Given the description of an element on the screen output the (x, y) to click on. 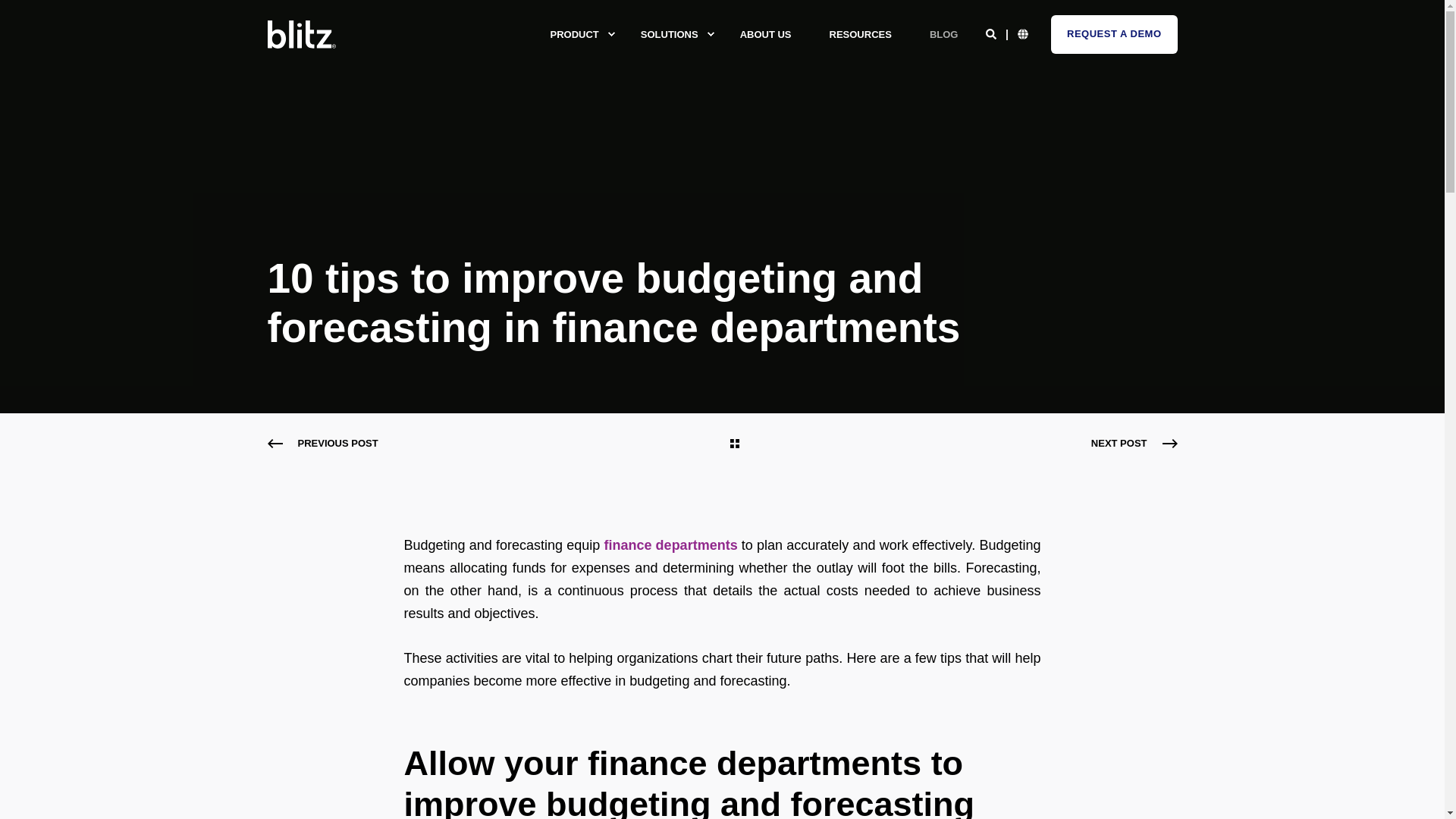
PRODUCT (576, 34)
SOLUTIONS (670, 34)
Request A Demo (1114, 34)
